Given the description of an element on the screen output the (x, y) to click on. 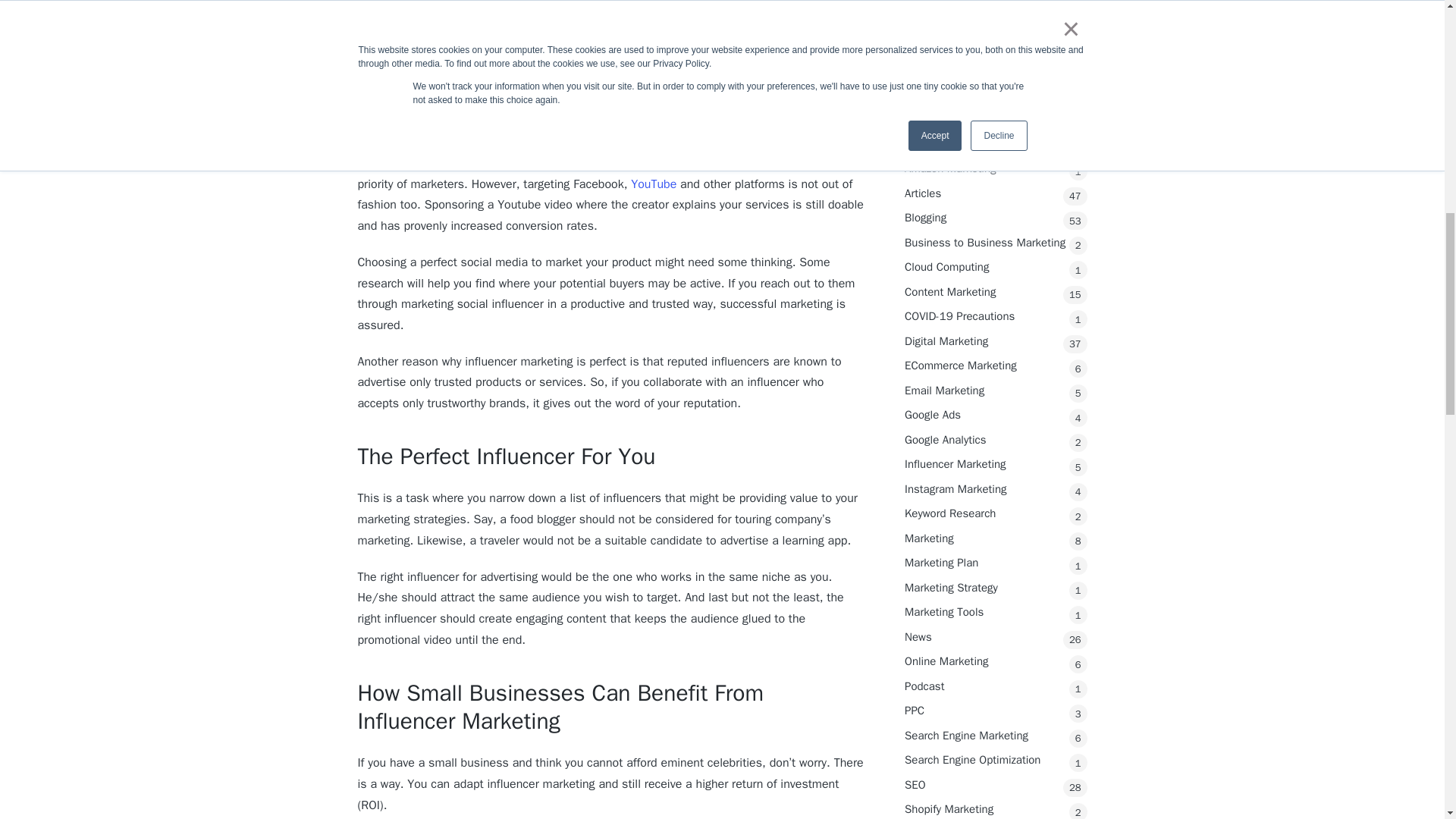
Influencer Marketing (995, 111)
Google Ads (995, 62)
YouTube (653, 183)
Marketing Plan (995, 210)
News (995, 284)
Email Marketing (995, 37)
ECommerce Marketing (995, 13)
Podcast (995, 334)
Google Analytics (995, 87)
Keyword Research (995, 160)
Online Marketing (995, 308)
Instagram Marketing (995, 136)
Marketing Strategy (995, 235)
Marketing (995, 185)
Marketing Tools (995, 259)
